Given the description of an element on the screen output the (x, y) to click on. 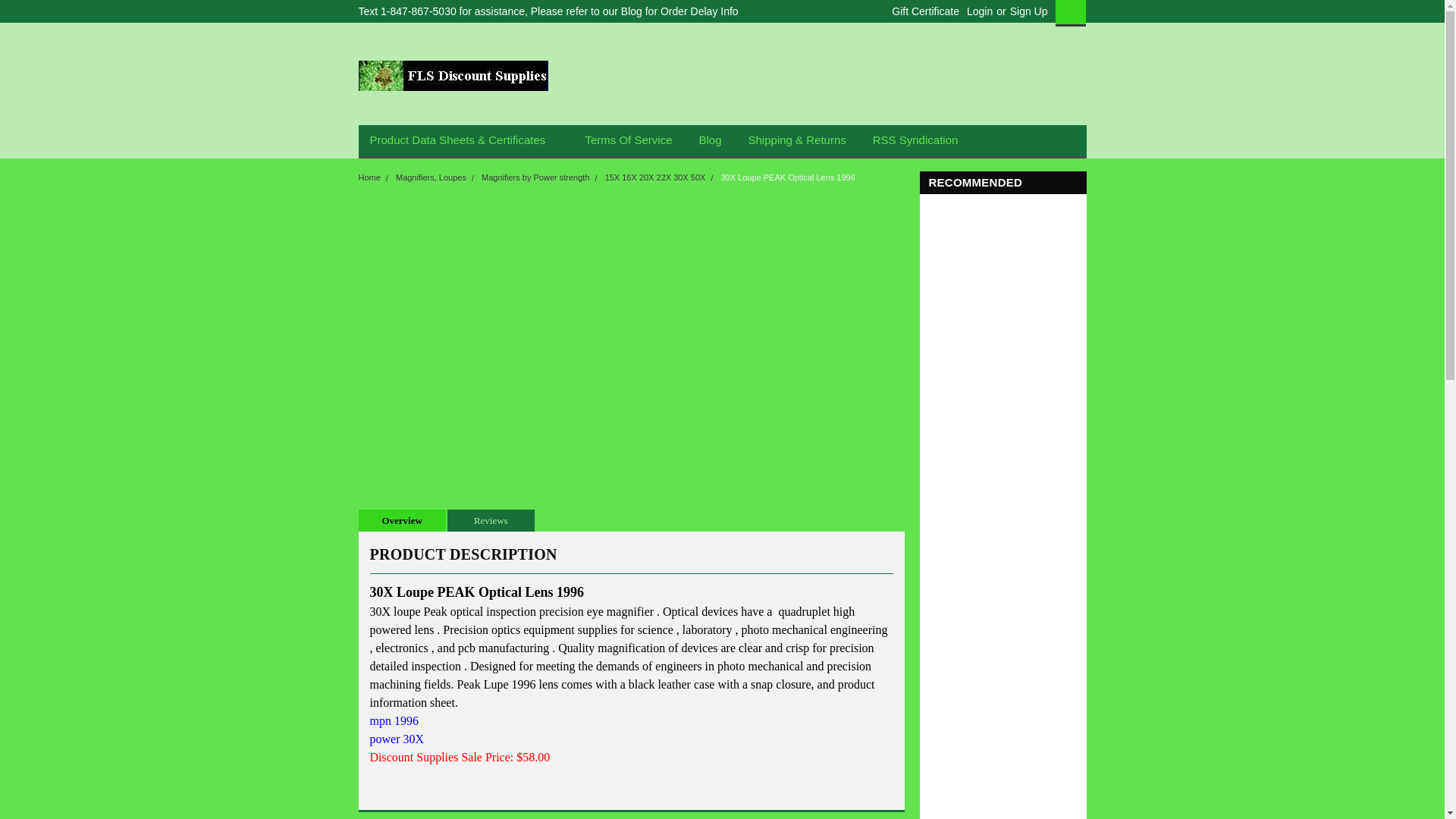
Gift Certificate (921, 11)
FLS Discount Supplies (452, 75)
Login (979, 11)
Sign Up (1027, 11)
